Given the description of an element on the screen output the (x, y) to click on. 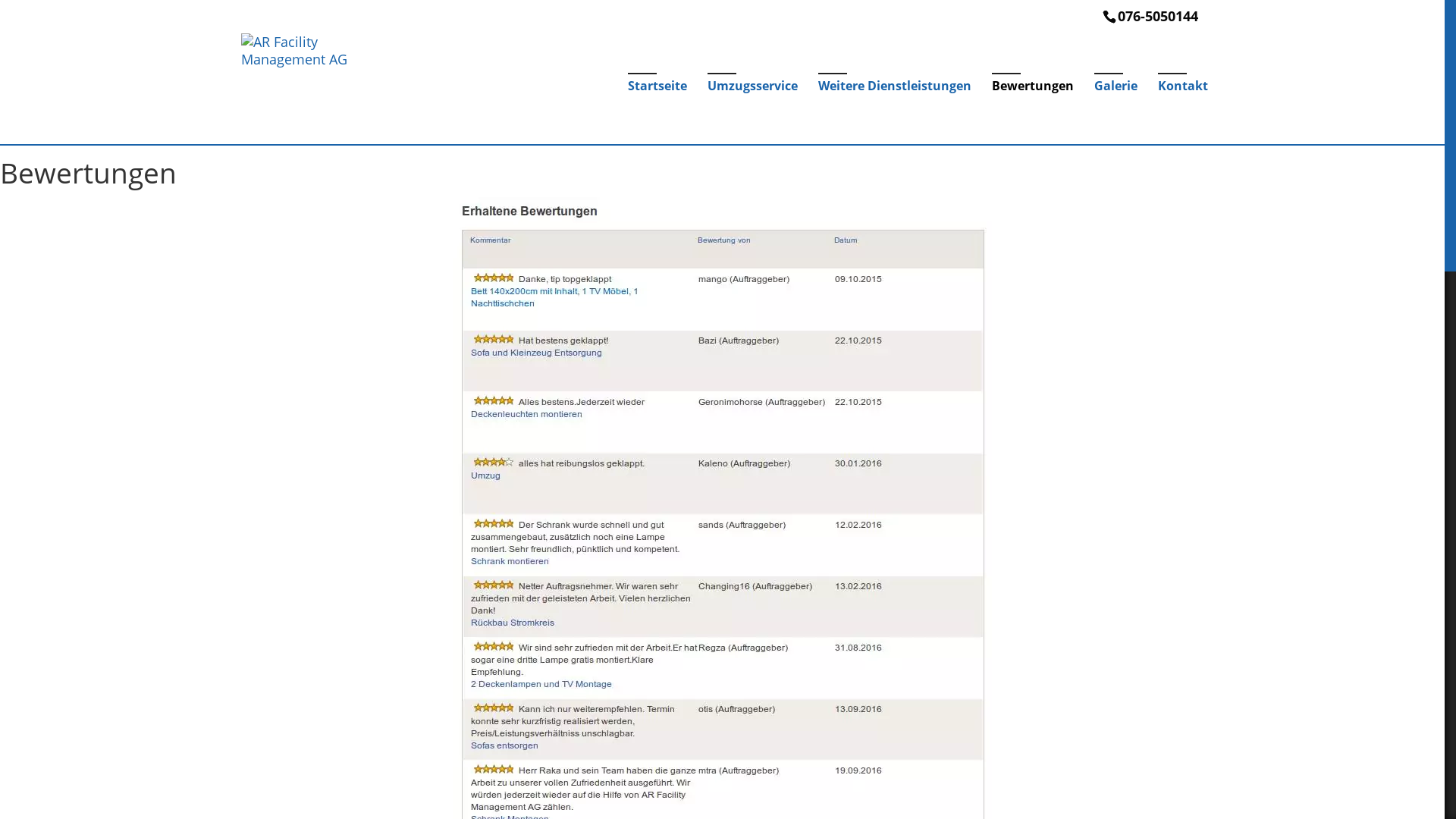
Weitere Dienstleistungen Element type: text (893, 112)
Kontakt Element type: text (1182, 112)
Bewertungen Element type: text (1032, 112)
Umzugsservice Element type: text (751, 112)
Galerie Element type: text (1114, 112)
Startseite Element type: text (657, 112)
